Given the description of an element on the screen output the (x, y) to click on. 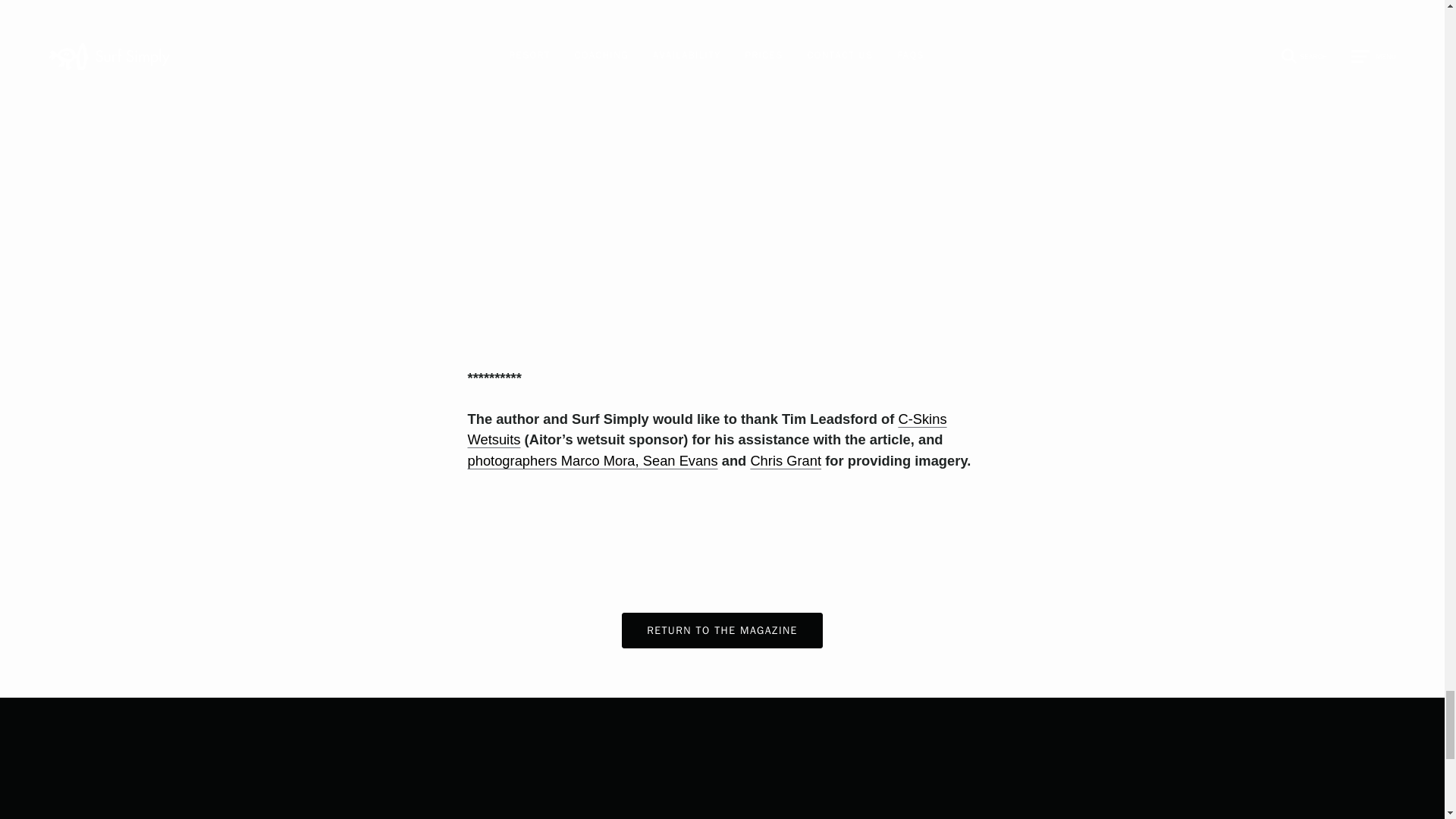
Sean Evans (680, 460)
Chris Grant (785, 460)
C-Skins Wetsuits (706, 429)
photographers Marco Mora, (554, 460)
RETURN TO THE MAGAZINE (721, 630)
